Given the description of an element on the screen output the (x, y) to click on. 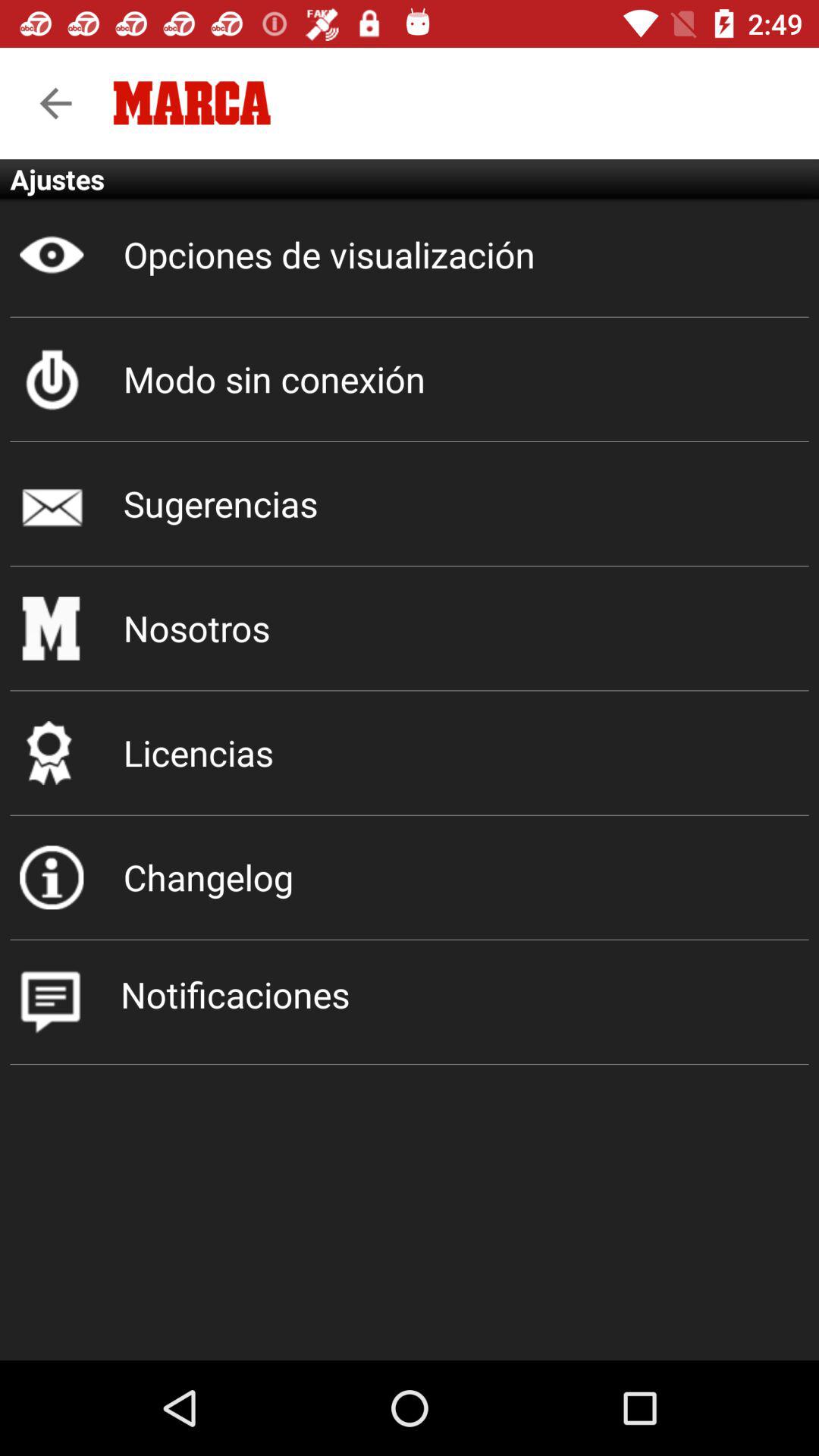
turn on the sugerencias icon (409, 503)
